Given the description of an element on the screen output the (x, y) to click on. 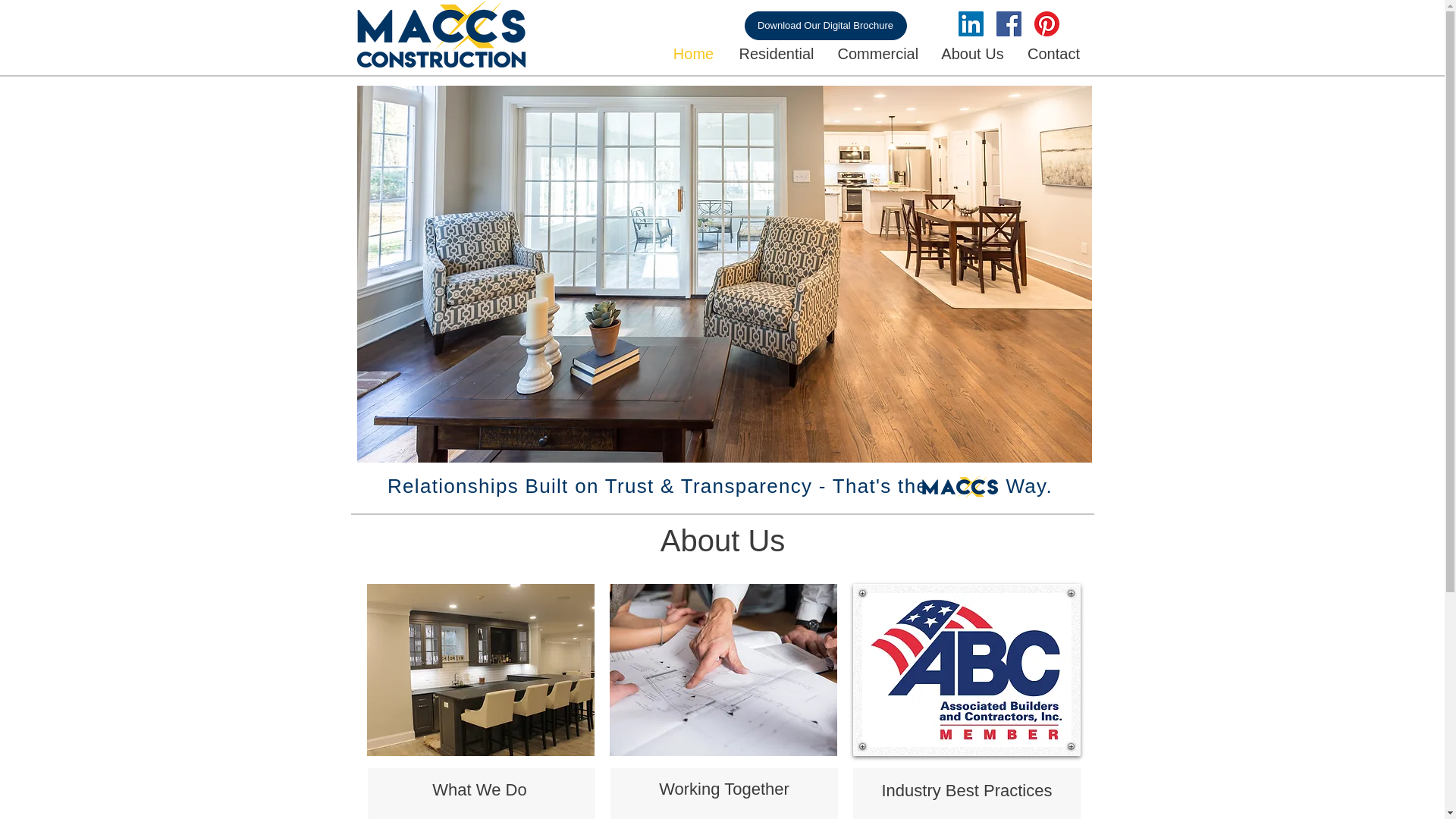
Home (692, 53)
Contact (1054, 53)
Residential (775, 53)
Commercial (878, 53)
About Us (973, 53)
Download Our Digital Brochure (825, 25)
